Given the description of an element on the screen output the (x, y) to click on. 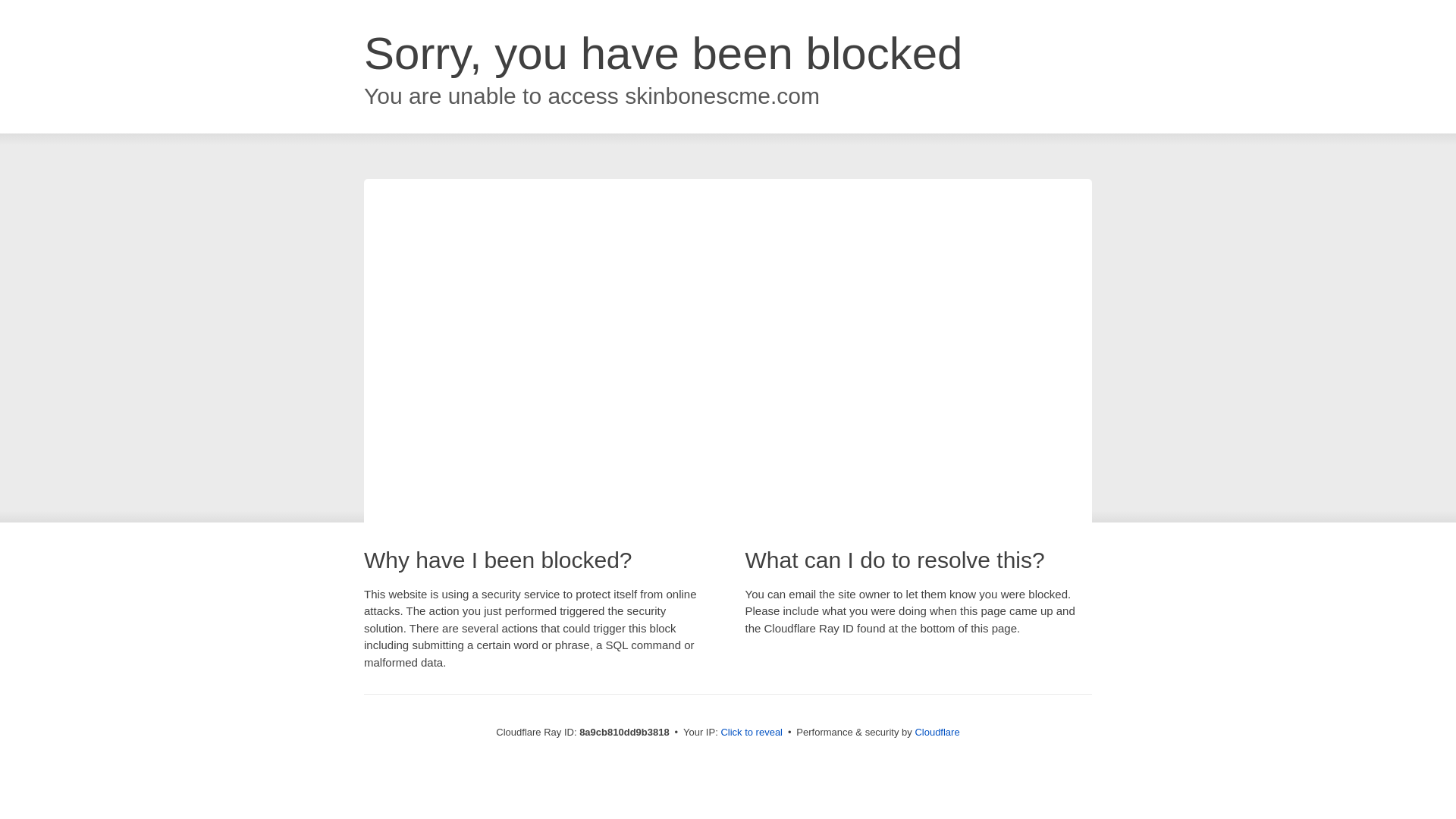
Click to reveal (751, 732)
Cloudflare (936, 731)
